Given the description of an element on the screen output the (x, y) to click on. 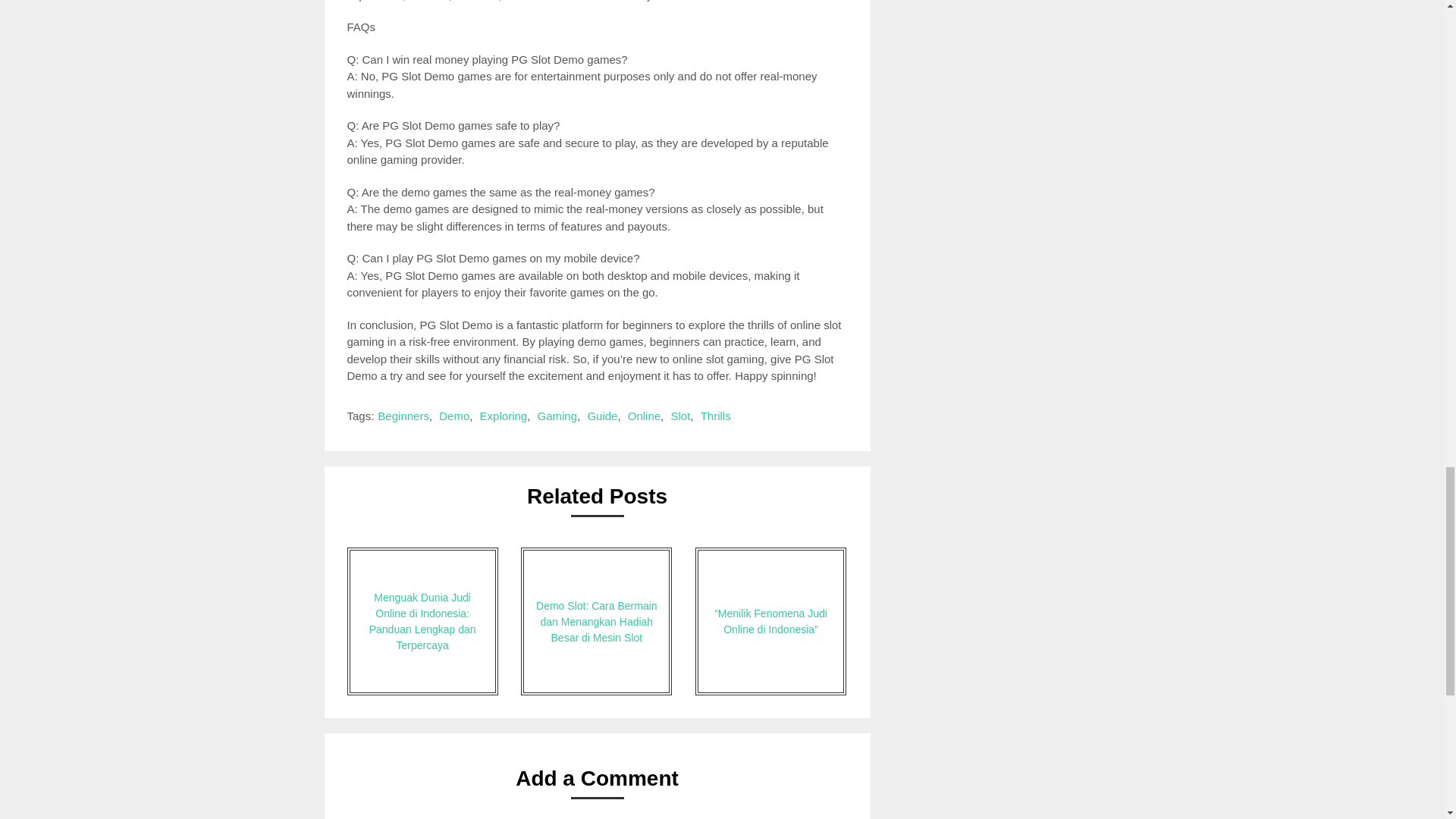
Thrills (715, 415)
Online (644, 415)
Exploring (503, 415)
Demo (453, 415)
Gaming (556, 415)
Guide (601, 415)
Beginners (403, 415)
Slot (679, 415)
